Given the description of an element on the screen output the (x, y) to click on. 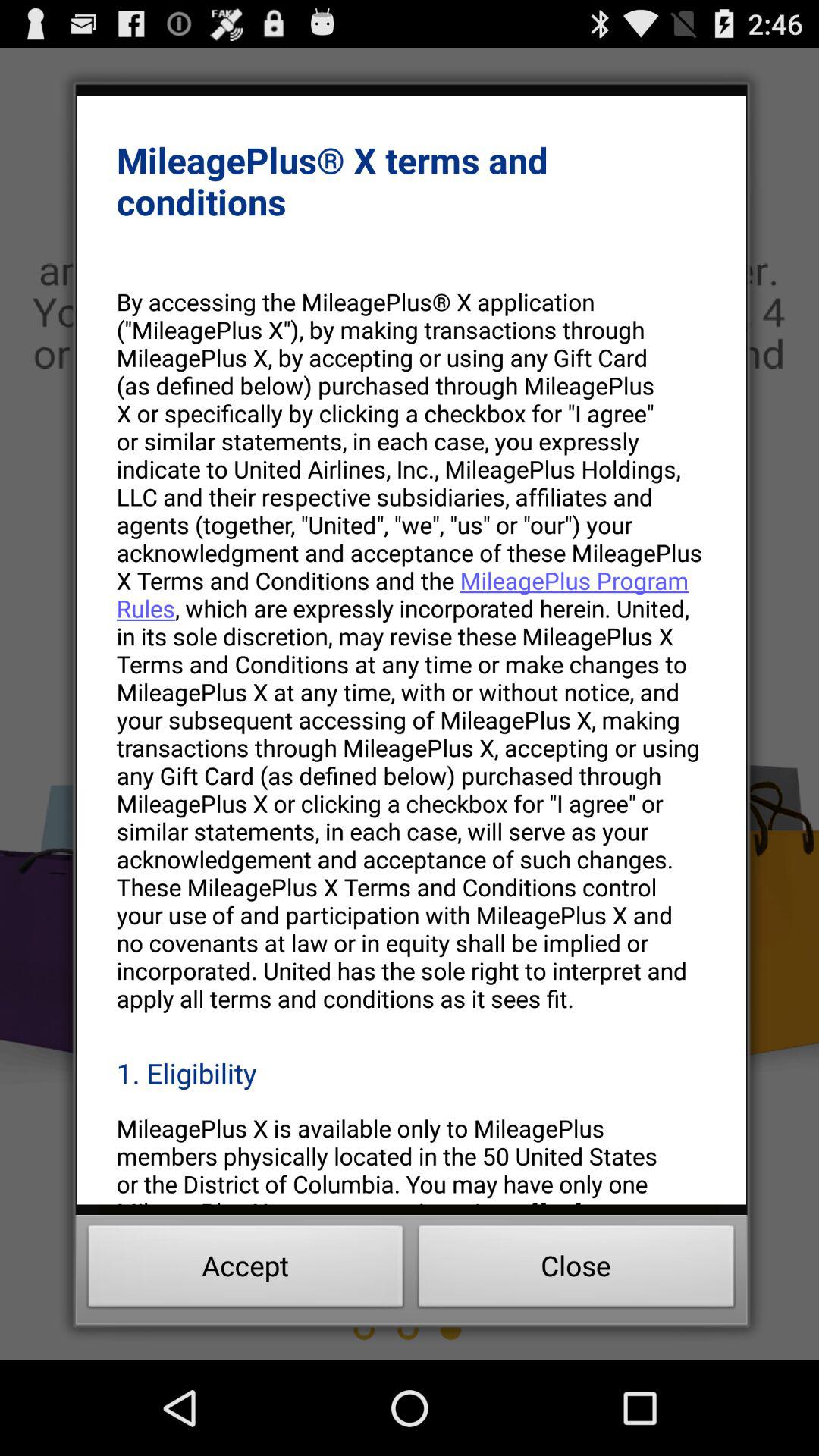
click button to the right of accept (576, 1270)
